Given the description of an element on the screen output the (x, y) to click on. 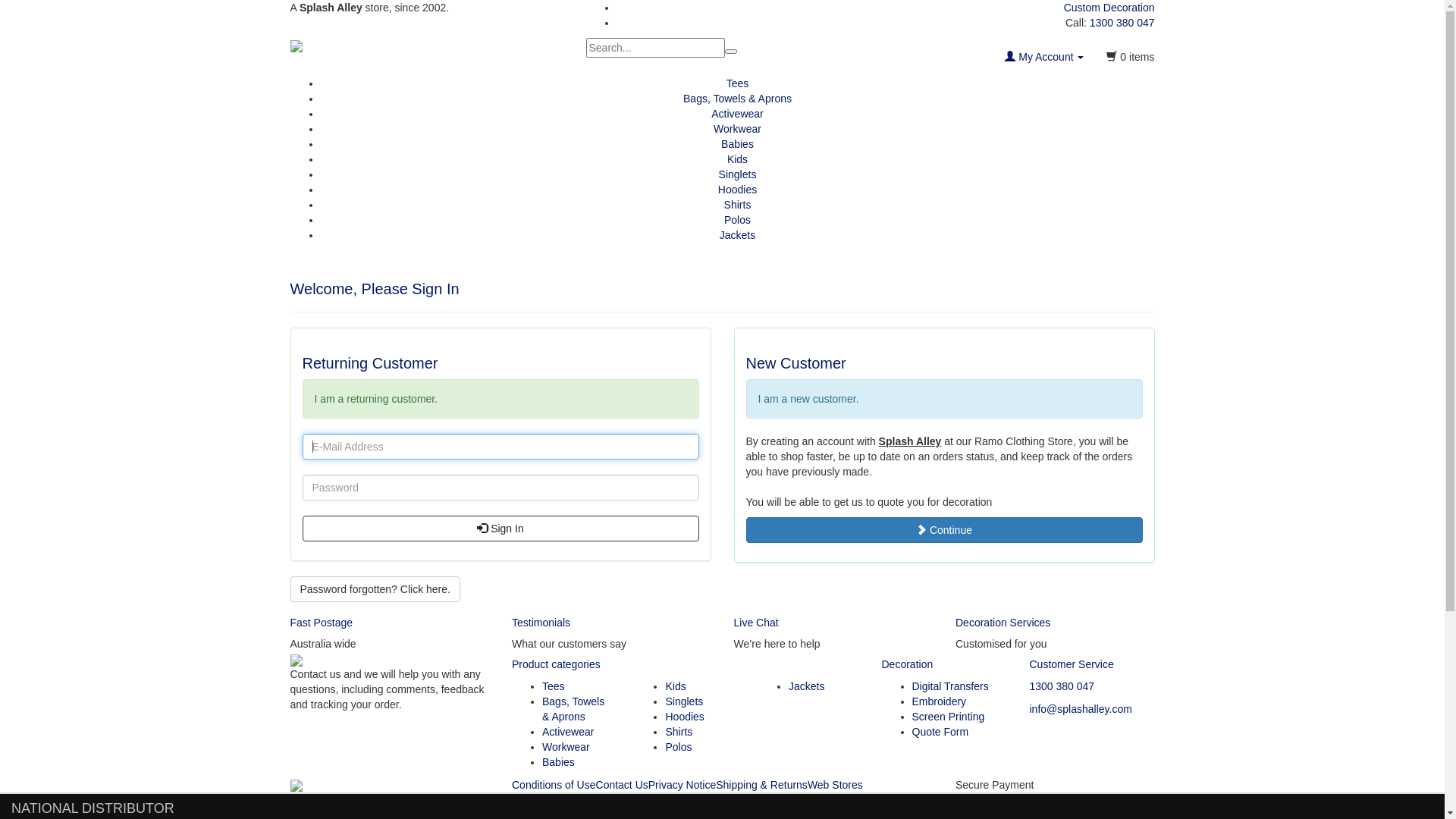
Privacy Notice Element type: text (681, 784)
Hoodies Element type: text (737, 189)
Continue Element type: text (944, 529)
Hoodies Element type: text (684, 716)
Shirts Element type: text (678, 731)
Workwear Element type: text (737, 128)
Polos Element type: text (678, 746)
Singlets Element type: text (737, 174)
info@splashalley.com Element type: text (1080, 708)
1300 380 047 Element type: text (1121, 22)
My Account Element type: text (1044, 56)
Singlets Element type: text (683, 701)
Polos Element type: text (737, 219)
Embroidery Element type: text (938, 701)
Conditions of Use Element type: text (553, 784)
Custom Decoration Element type: text (1108, 7)
Shirts Element type: text (737, 204)
Babies Element type: text (558, 762)
Bags, Towels & Aprons Element type: text (573, 708)
Digital Transfers Element type: text (949, 686)
Web Stores Element type: text (834, 784)
Bags, Towels & Aprons Element type: text (737, 98)
Screen Printing Element type: text (947, 716)
Jackets Element type: text (737, 235)
Activewear Element type: text (567, 731)
Kids Element type: text (675, 686)
Jackets Element type: text (806, 686)
Contact Us Element type: text (622, 784)
1300 380 047 Element type: text (1062, 686)
Password forgotten? Click here. Element type: text (374, 589)
Babies Element type: text (737, 144)
Quote Form Element type: text (939, 731)
Activewear Element type: text (736, 113)
Tees Element type: text (553, 686)
Tees Element type: text (737, 83)
Workwear Element type: text (565, 746)
Shipping & Returns Element type: text (761, 784)
Kids Element type: text (737, 159)
Sign In Element type: text (499, 528)
